Given the description of an element on the screen output the (x, y) to click on. 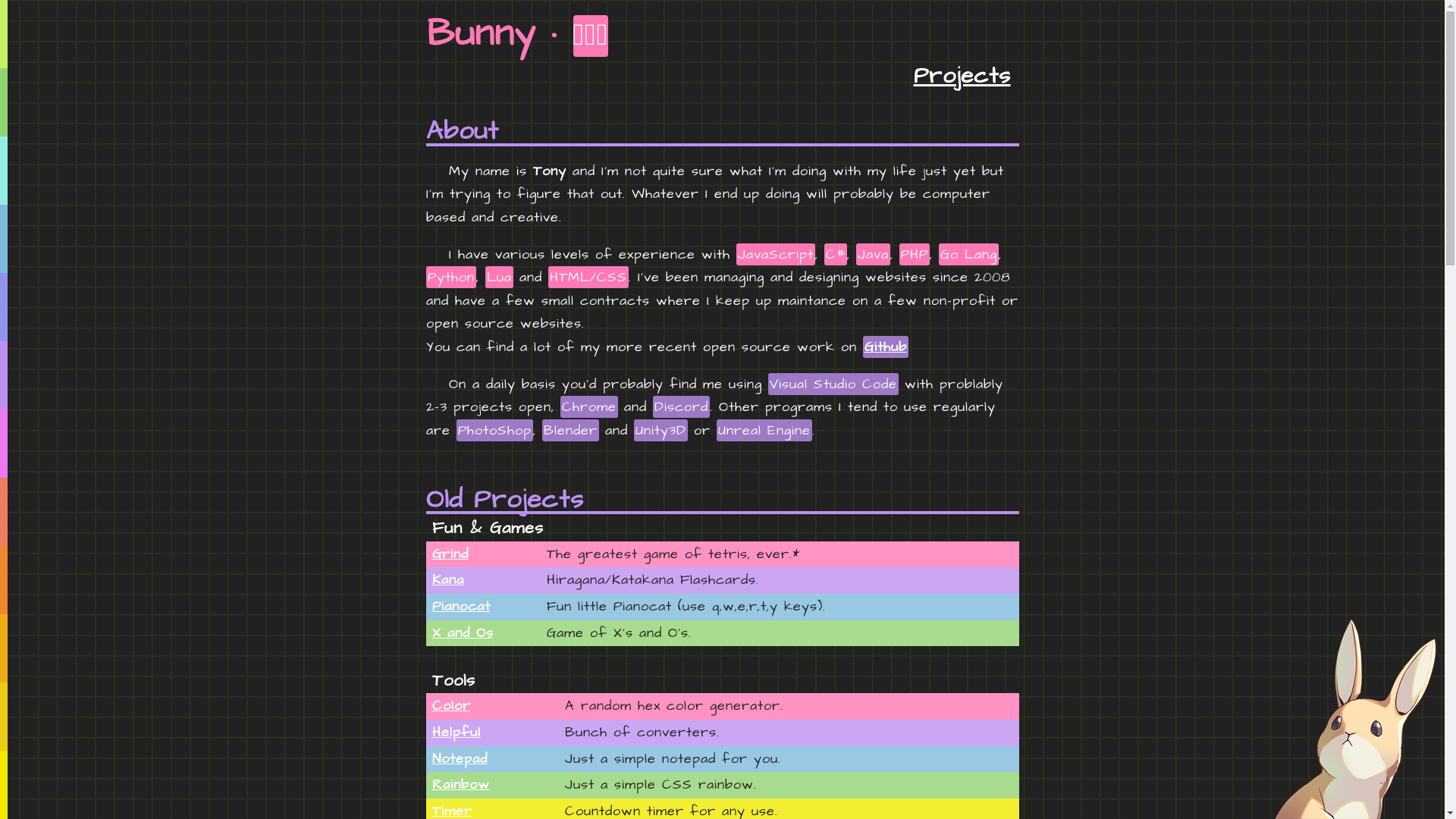
Github Element type: text (885, 346)
Notepad Element type: text (459, 758)
Grind Element type: text (450, 553)
X and Os Element type: text (462, 632)
Kana Element type: text (448, 579)
Projects Element type: text (961, 75)
Color Element type: text (451, 705)
Helpful Element type: text (456, 731)
Pianocat Element type: text (461, 605)
Rainbow Element type: text (460, 784)
